Given the description of an element on the screen output the (x, y) to click on. 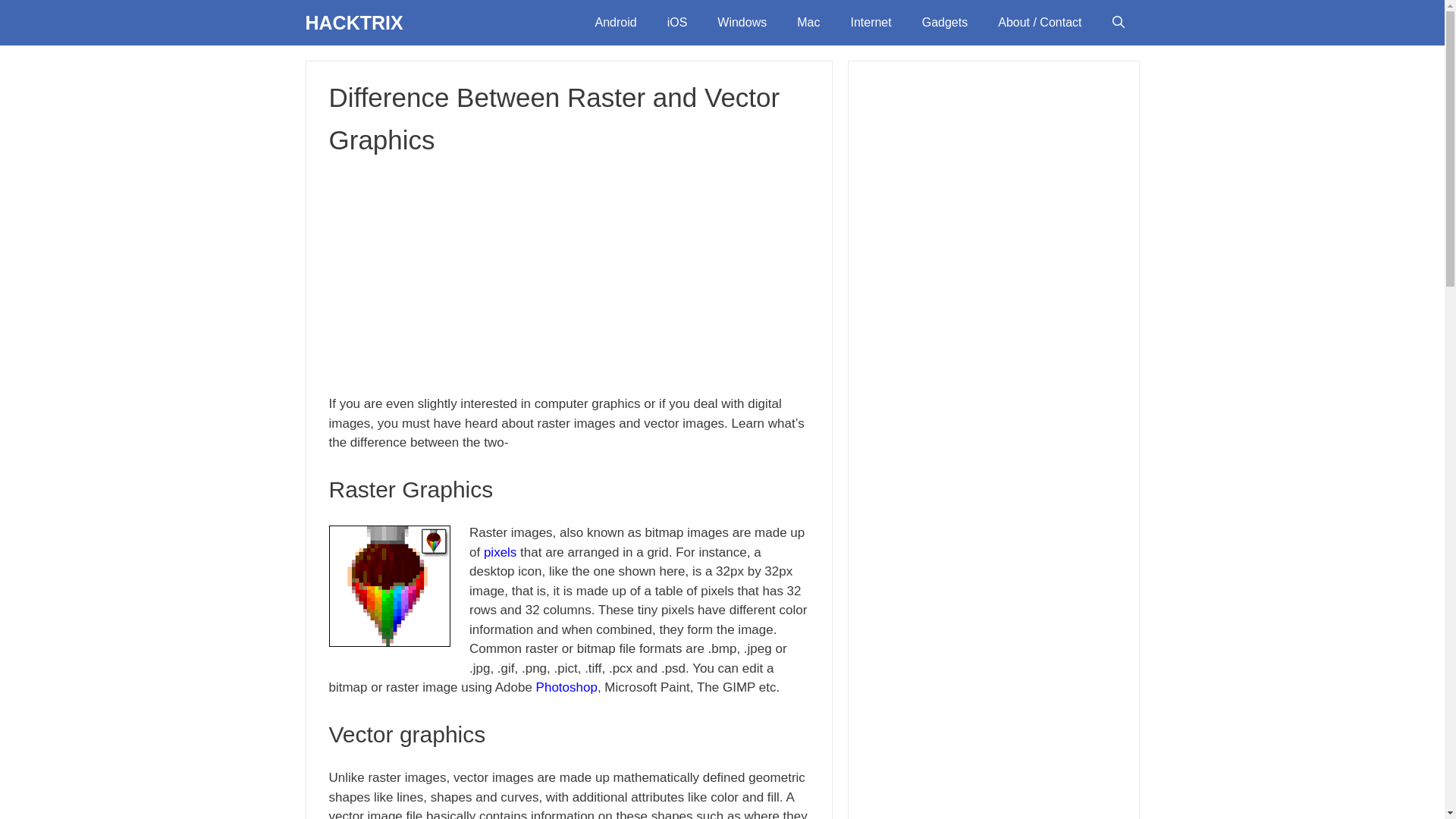
pixels (499, 551)
HACKTRIX (353, 22)
iOS (677, 22)
Mac (807, 22)
Gadgets (944, 22)
difference in vector and bitmap images (389, 586)
Advertisement (569, 274)
Windows (741, 22)
Photoshop (565, 687)
Android (614, 22)
Internet (869, 22)
